Given the description of an element on the screen output the (x, y) to click on. 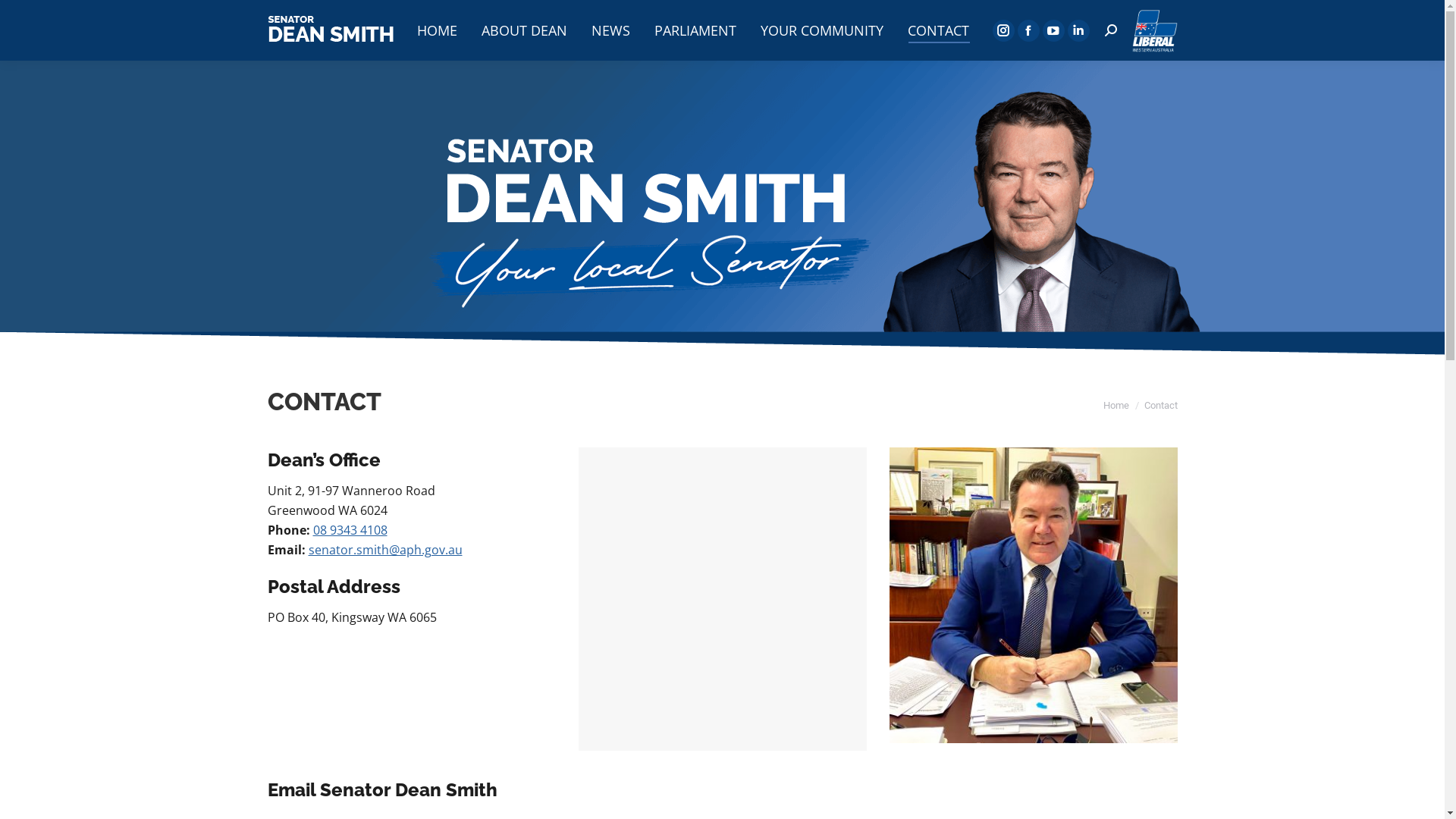
PARLIAMENT Element type: text (694, 30)
YouTube page opens in new window Element type: text (1052, 30)
CONTACT Element type: text (937, 30)
ABOUT DEAN Element type: text (523, 30)
Linkedin page opens in new window Element type: text (1078, 30)
NEWS Element type: text (610, 30)
senator.smith@aph.gov.au Element type: text (384, 549)
Go! Element type: text (31, 17)
YOUR COMMUNITY Element type: text (820, 30)
Home Element type: text (1115, 404)
HOME Element type: text (437, 30)
Facebook page opens in new window Element type: text (1028, 30)
Instagram page opens in new window Element type: text (1002, 30)
08 9343 4108 Element type: text (349, 529)
